Given the description of an element on the screen output the (x, y) to click on. 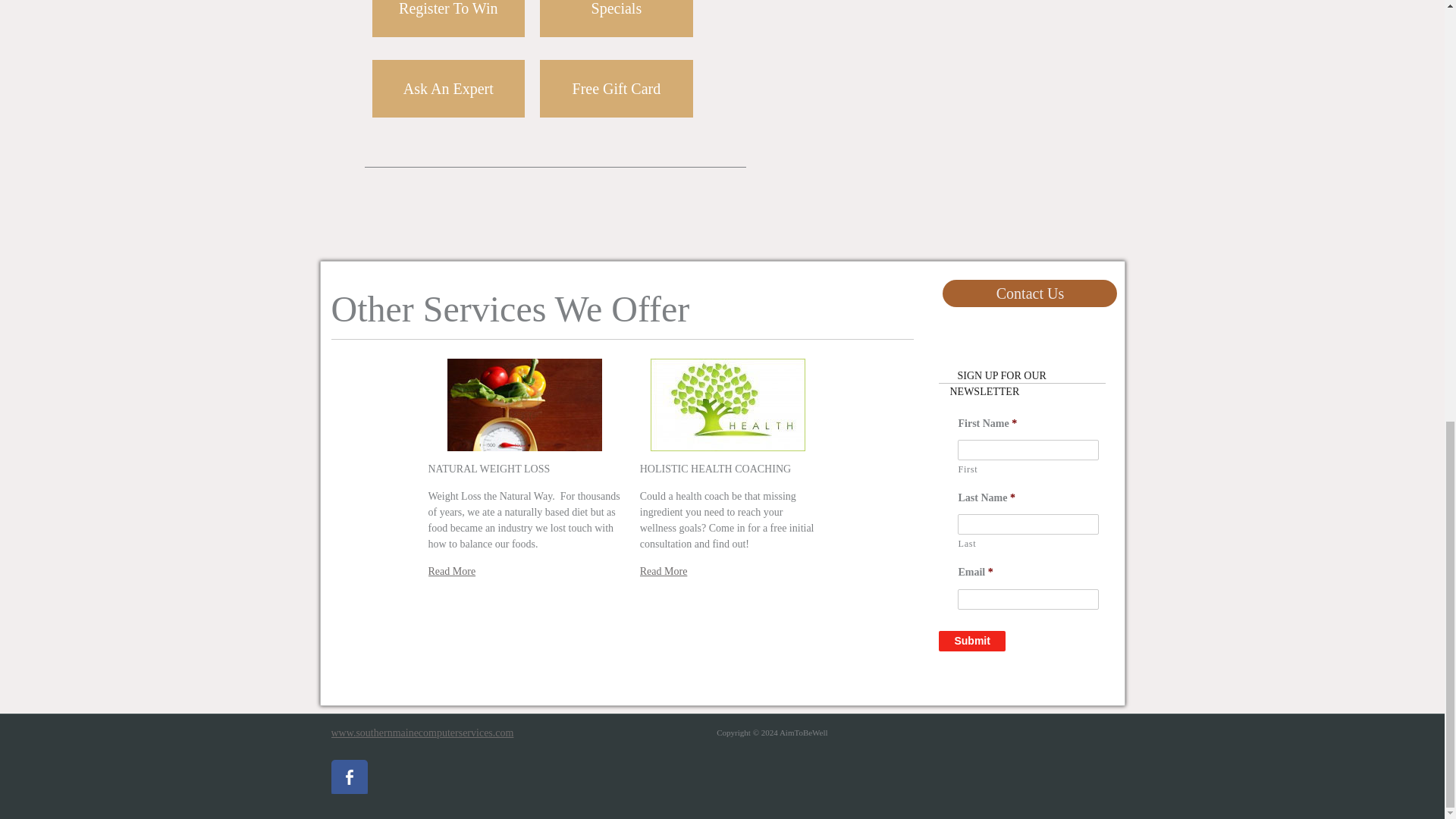
Contact Us (1029, 293)
Submit (971, 640)
Contact Us (1029, 293)
Submit (971, 640)
Read More (663, 571)
www.southernmainecomputerservices.com (421, 732)
Read More (452, 571)
